Given the description of an element on the screen output the (x, y) to click on. 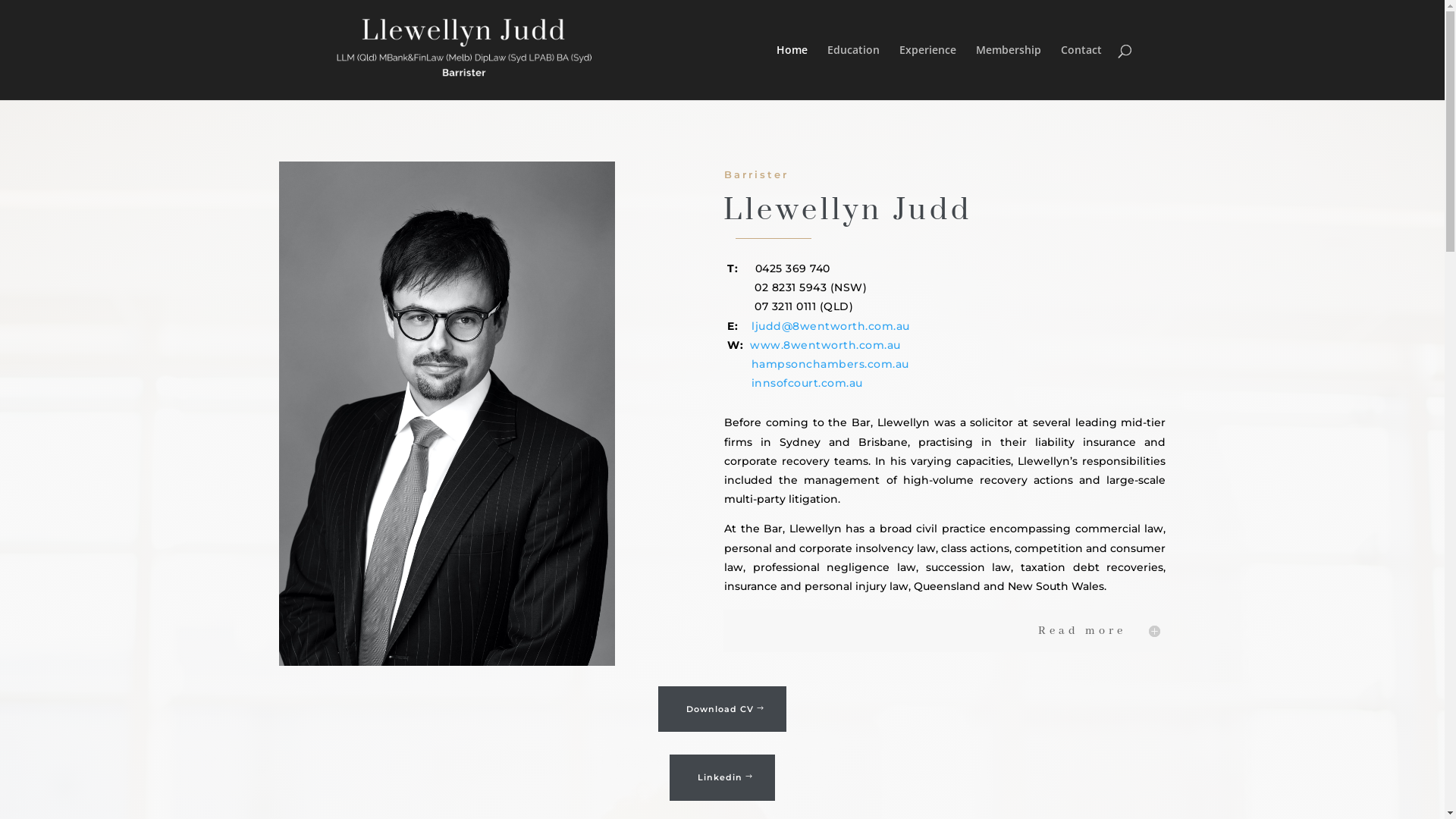
       hampsonchambers.com.au Element type: text (818, 363)
Linkedin Element type: text (722, 777)
Education Element type: text (852, 72)
 www.8wentworth.com.au Element type: text (823, 344)
LLewellyn Element type: hover (447, 413)
ljudd@8wentworth.com.au Element type: text (830, 325)
Download CV Element type: text (722, 709)
       innsofcourt.com.au Element type: text (794, 382)
Membership Element type: text (1007, 72)
Experience Element type: text (927, 72)
Contact Element type: text (1080, 72)
Home Element type: text (791, 72)
